Given the description of an element on the screen output the (x, y) to click on. 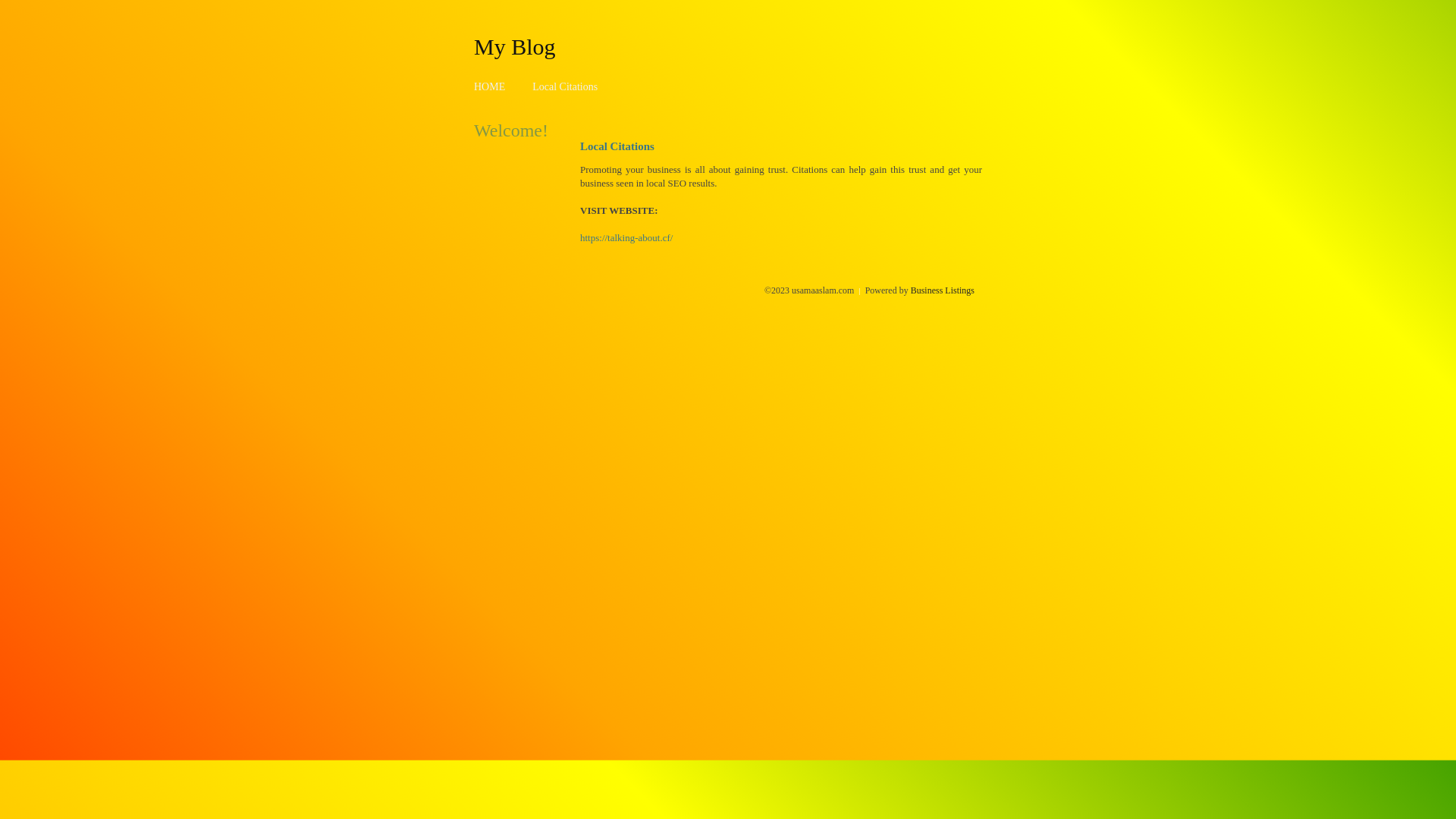
https://talking-about.cf/ Element type: text (626, 237)
My Blog Element type: text (514, 46)
HOME Element type: text (489, 86)
Business Listings Element type: text (942, 290)
Local Citations Element type: text (564, 86)
